Given the description of an element on the screen output the (x, y) to click on. 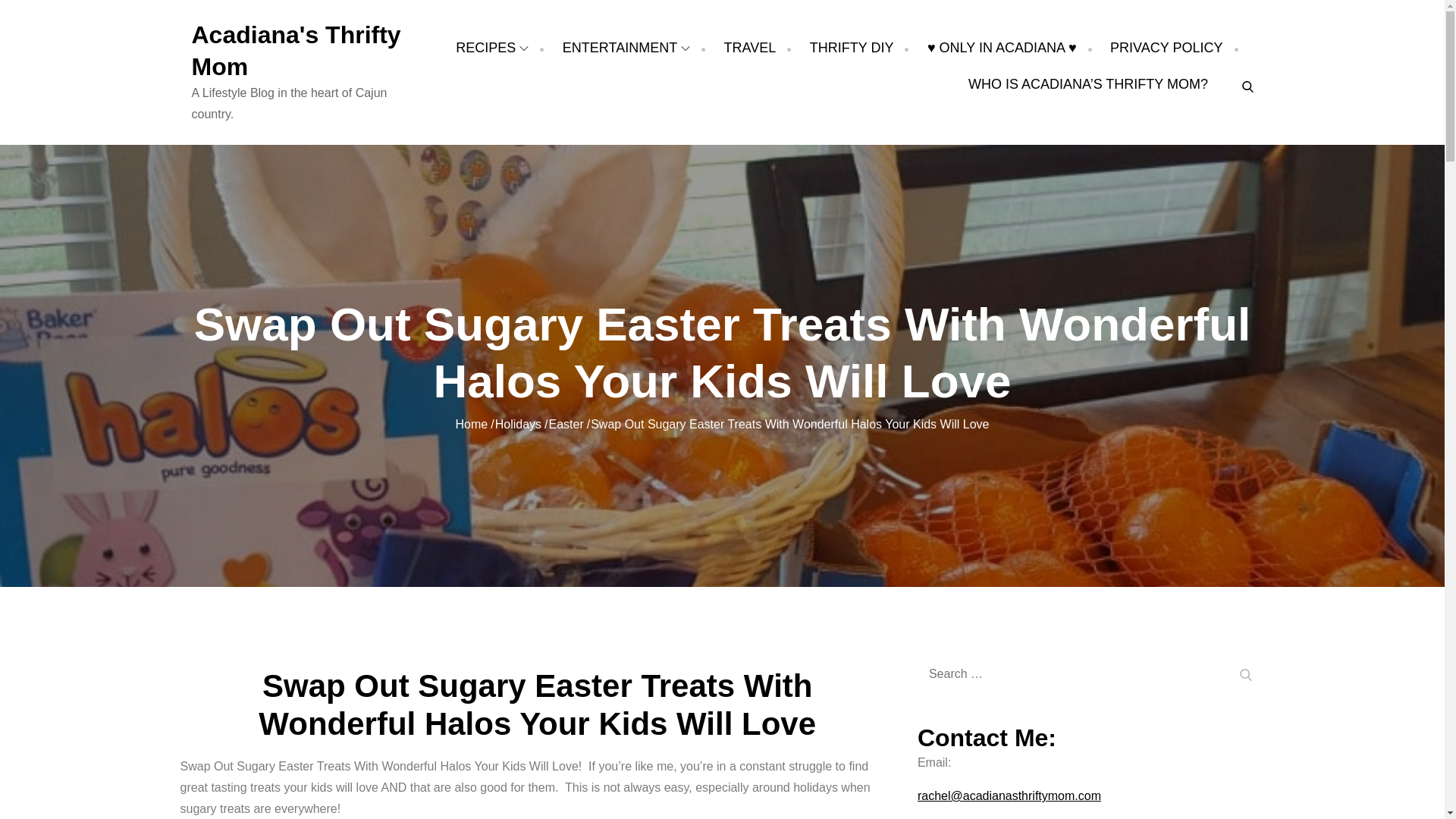
TRAVEL (749, 47)
Acadiana's Thrifty Mom (295, 50)
ENTERTAINMENT (626, 47)
PRIVACY POLICY (1166, 47)
RECIPES (491, 47)
THRIFTY DIY (851, 47)
